Given the description of an element on the screen output the (x, y) to click on. 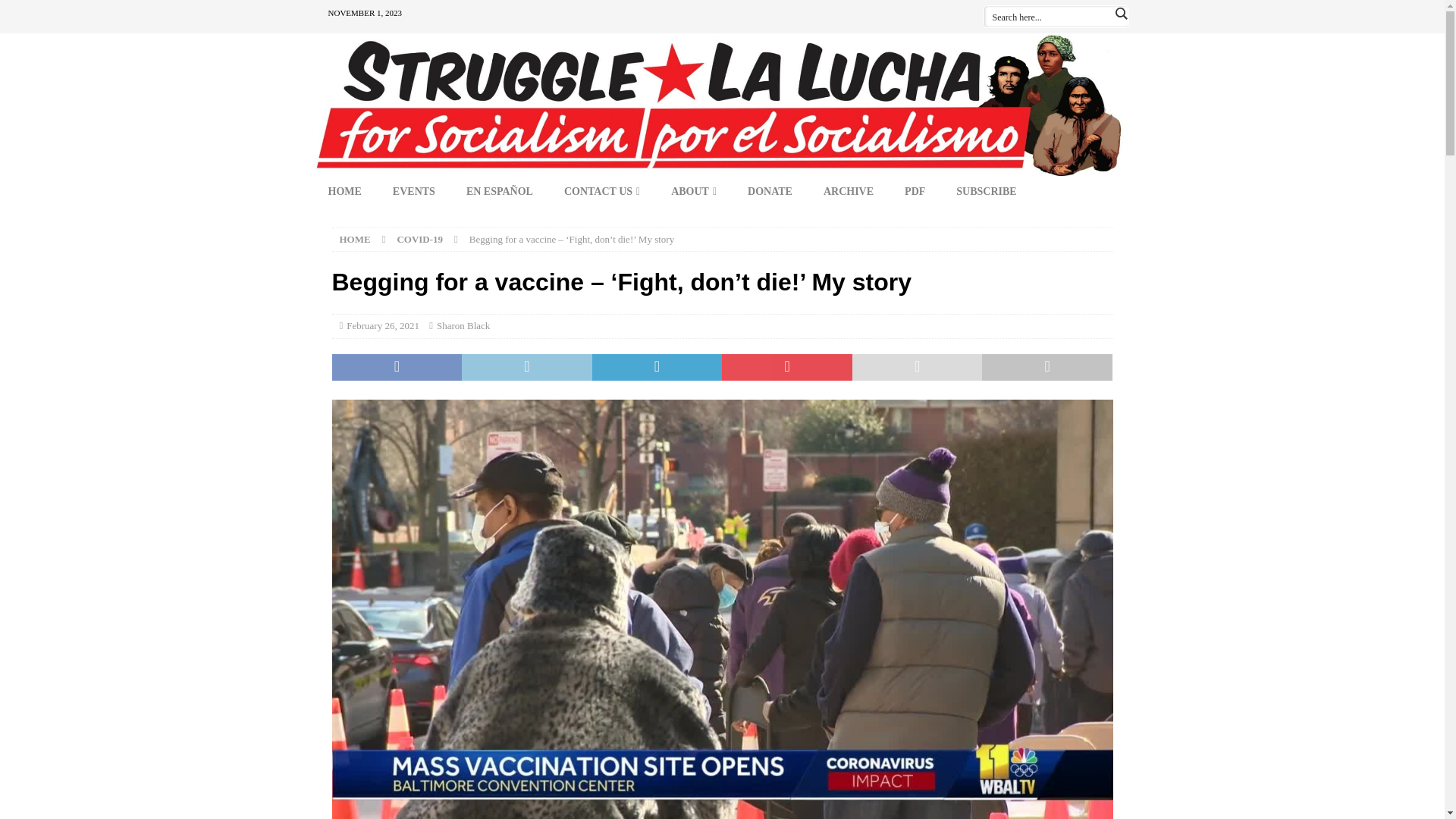
February 26, 2021 (382, 325)
DONATE (770, 192)
CONTACT US (601, 192)
SUBSCRIBE (985, 192)
PDF (914, 192)
HOME (355, 238)
ARCHIVE (848, 192)
HOME (344, 192)
EVENTS (413, 192)
Sharon Black (462, 325)
ABOUT (693, 192)
COVID-19 (419, 238)
